Given the description of an element on the screen output the (x, y) to click on. 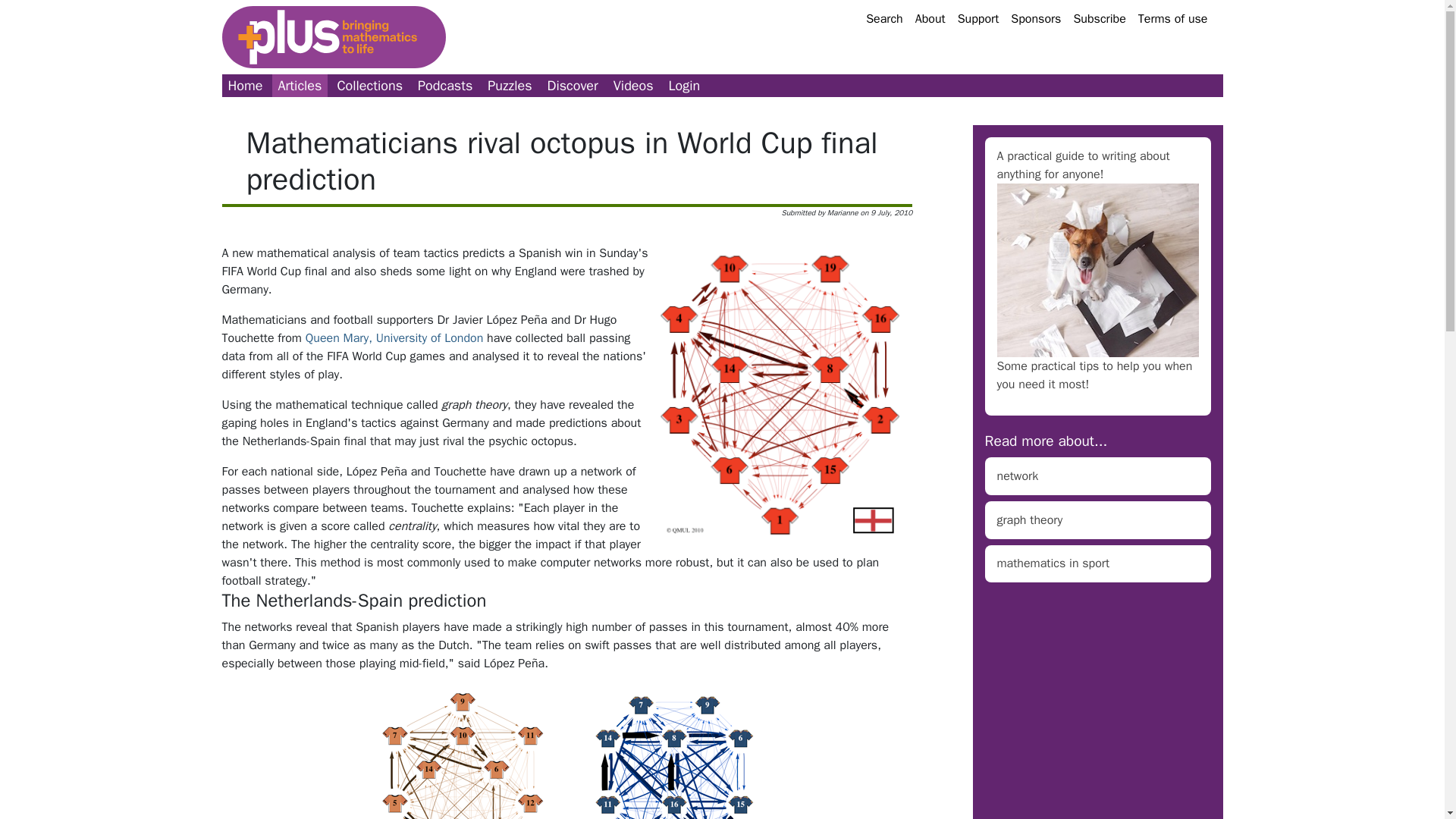
Packages (369, 85)
Terms of use (1173, 18)
Podcasts (445, 85)
Discover (572, 85)
Videos (633, 85)
About (930, 18)
Articles (300, 85)
Search (884, 18)
Collections (369, 85)
Subscribe (1099, 18)
Puzzles (509, 85)
Home (244, 85)
Book film and other reviews (572, 85)
A practical guide to writing about anything for anyone! (1082, 164)
Sponsors (1035, 18)
